Given the description of an element on the screen output the (x, y) to click on. 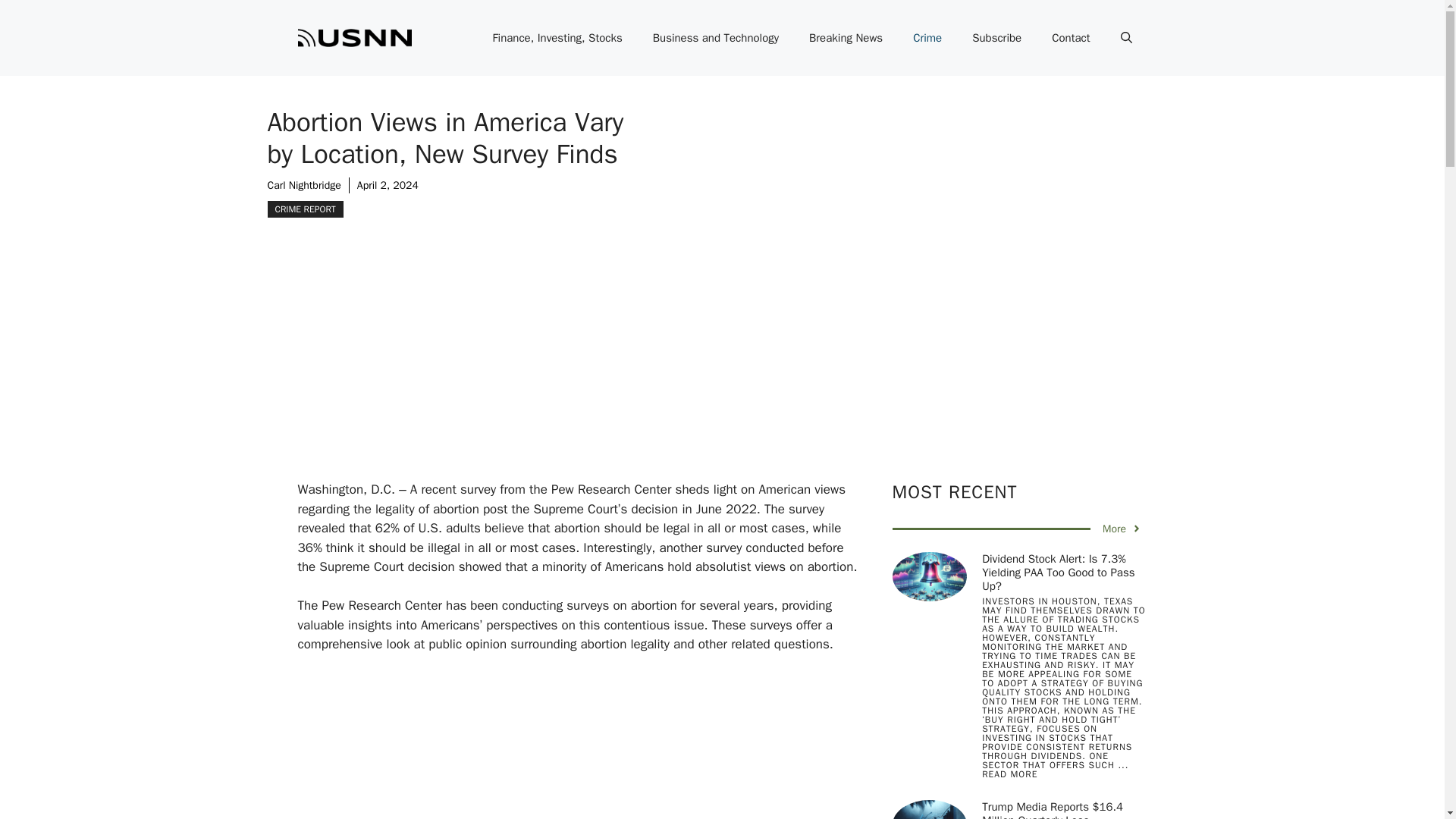
READ MORE (1008, 774)
Advertisement (600, 746)
Contact (1070, 37)
Carl Nightbridge (303, 185)
Finance, Investing, Stocks (557, 37)
Subscribe (996, 37)
Breaking News (845, 37)
Crime (927, 37)
CRIME REPORT (304, 208)
